Given the description of an element on the screen output the (x, y) to click on. 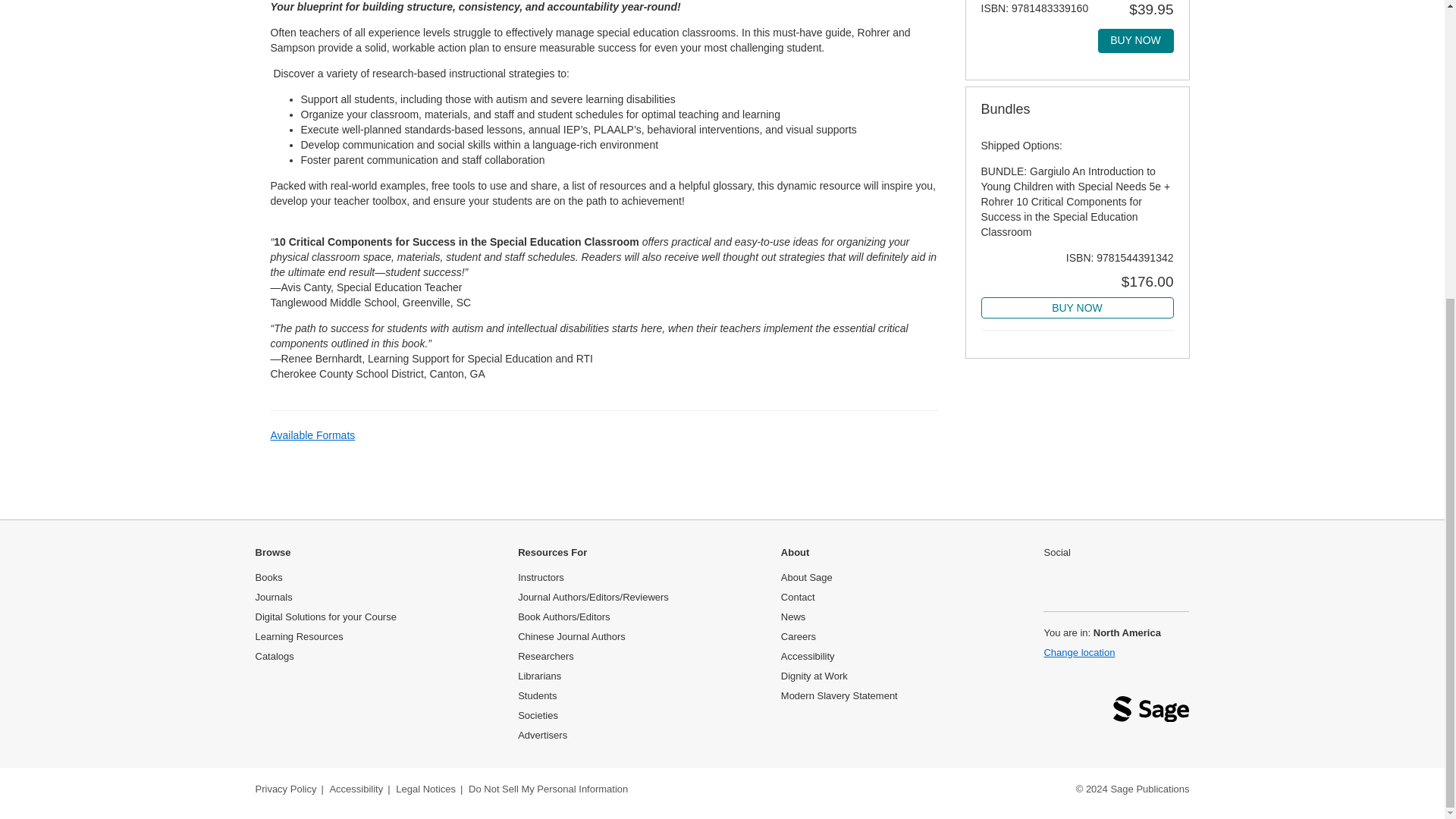
Buy now (1077, 307)
Sage logo: link back to homepage (1151, 712)
Catalogs (274, 655)
Buy now (1135, 40)
